Given the description of an element on the screen output the (x, y) to click on. 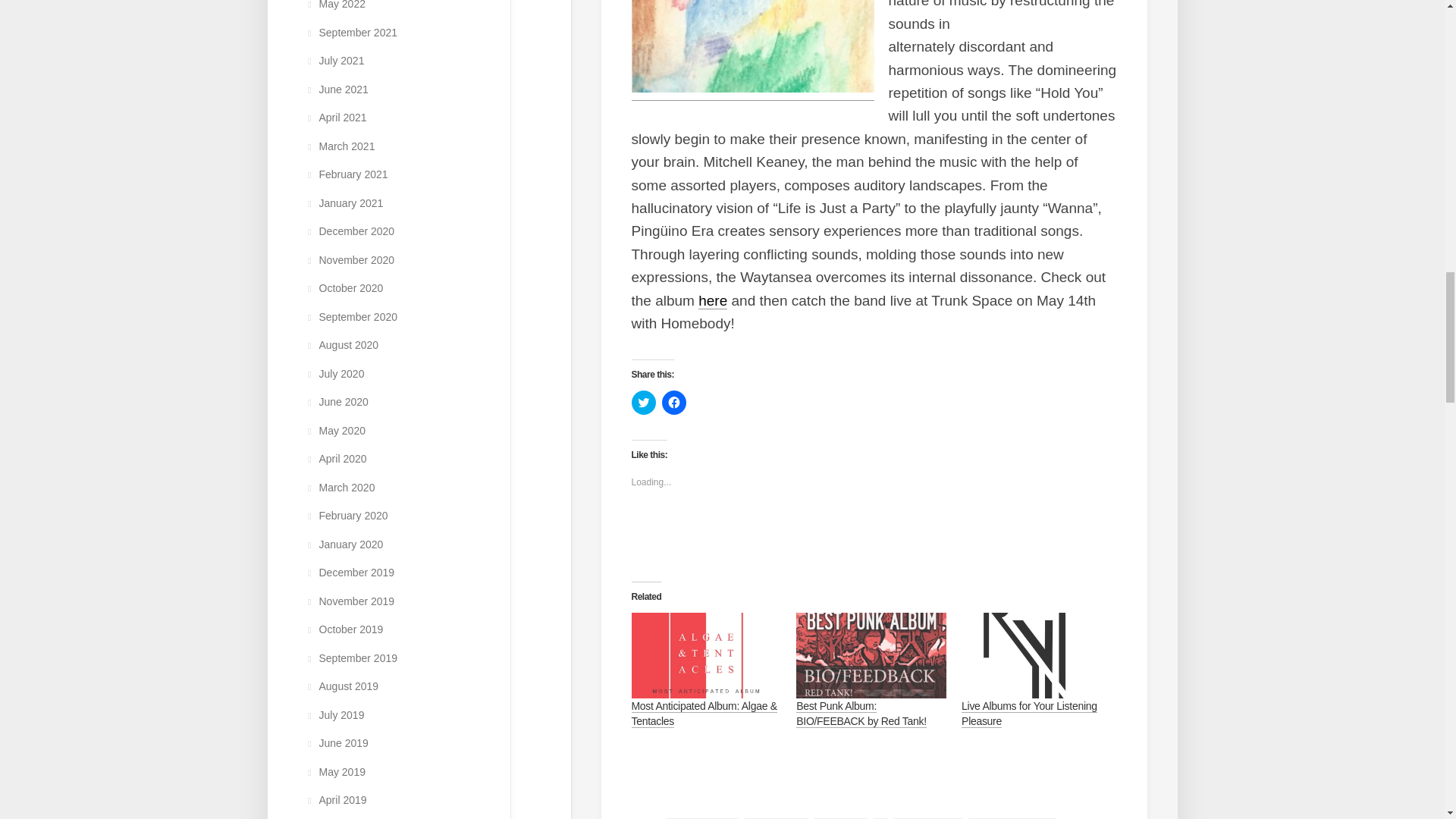
Click to share on Facebook (673, 402)
Like or Reblog (873, 531)
Click to share on Twitter (642, 402)
